Given the description of an element on the screen output the (x, y) to click on. 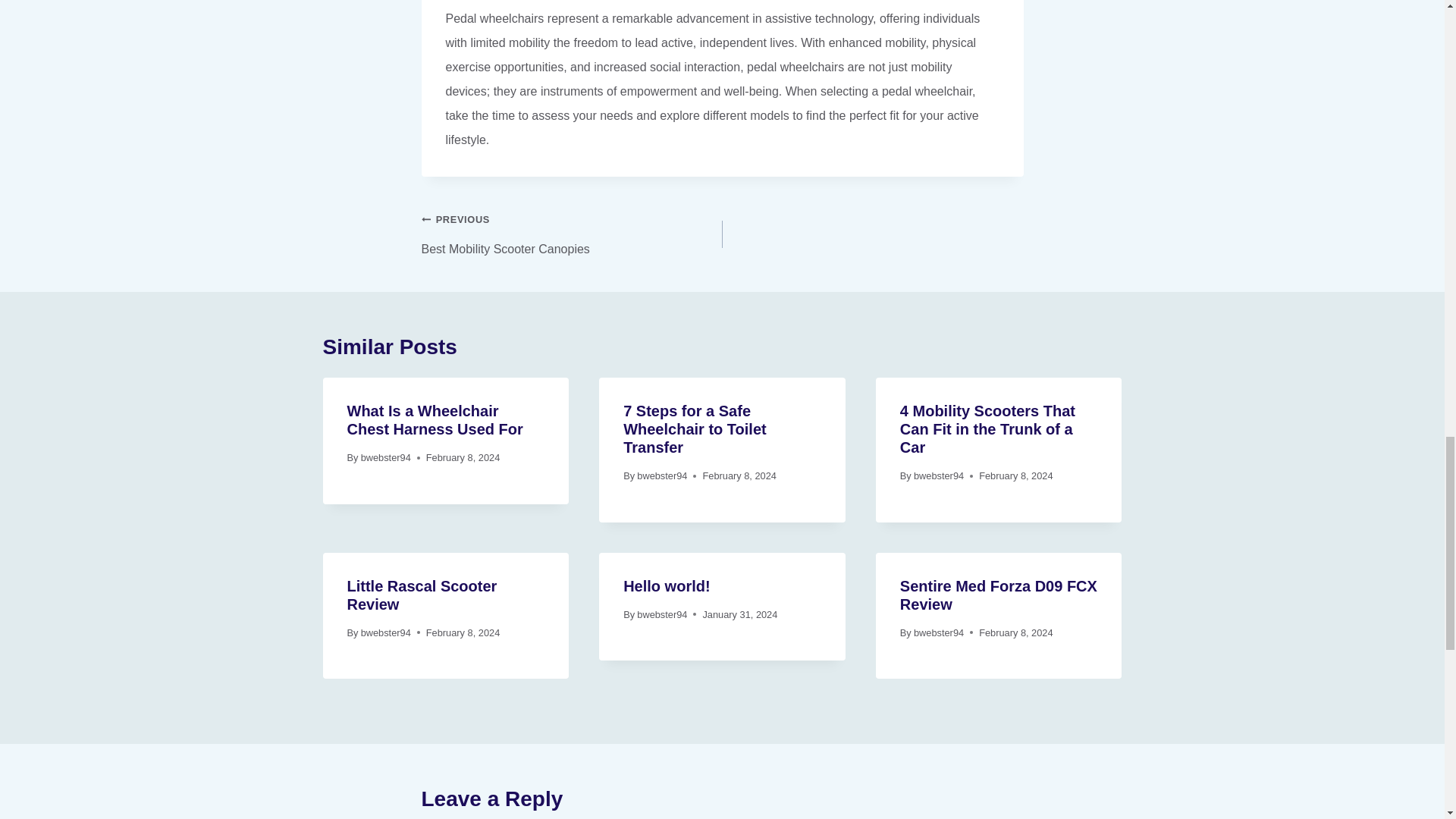
7 Steps for a Safe Wheelchair to Toilet Transfer (695, 428)
What Is a Wheelchair Chest Harness Used For (434, 419)
4 Mobility Scooters That Can Fit in the Trunk of a Car (987, 428)
Hello world! (666, 586)
bwebster94 (938, 475)
Little Rascal Scooter Review (572, 234)
bwebster94 (422, 595)
bwebster94 (662, 475)
bwebster94 (662, 614)
bwebster94 (385, 457)
